Given the description of an element on the screen output the (x, y) to click on. 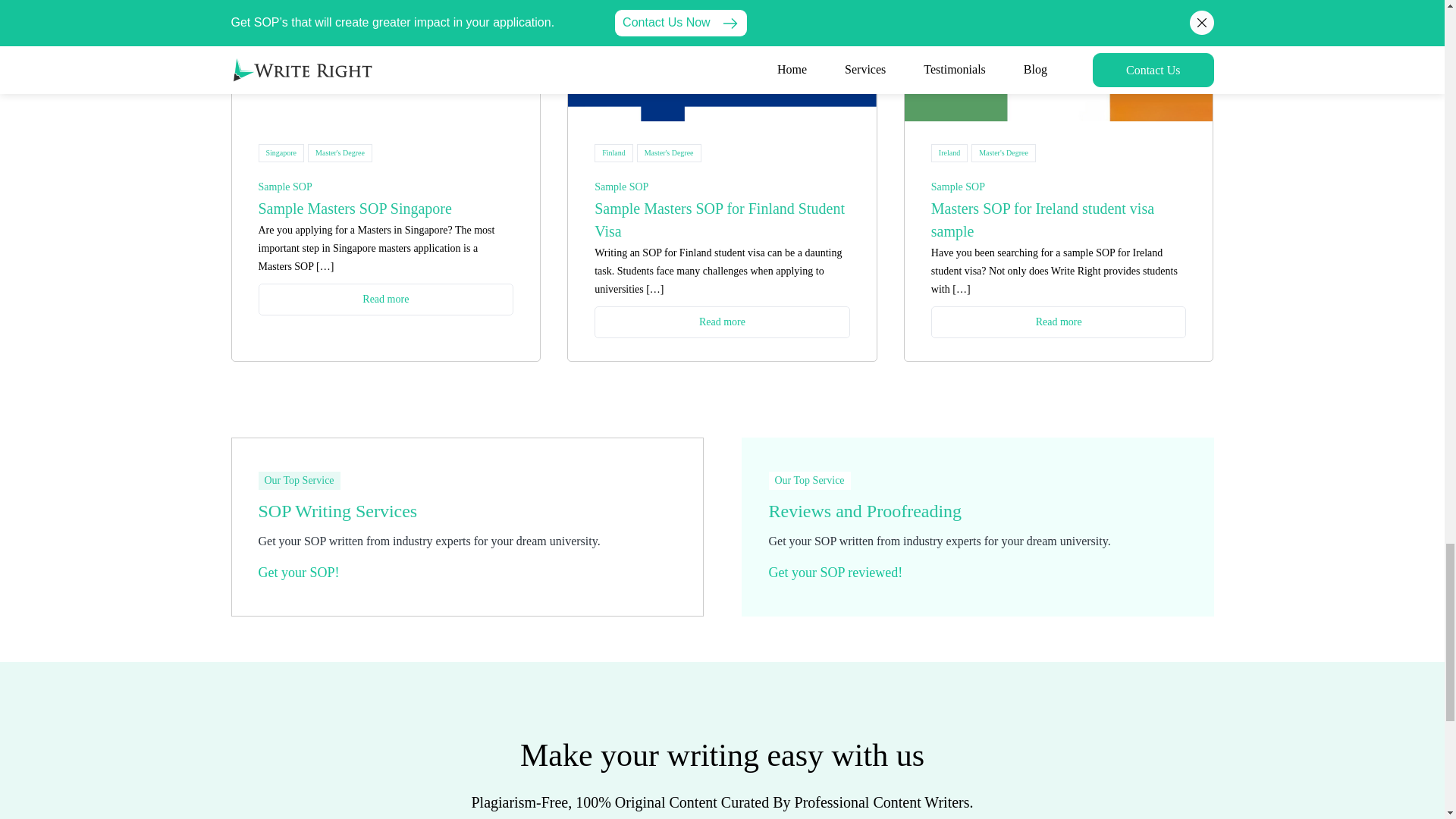
Get your SOP reviewed! (835, 572)
Read more (385, 299)
Get your SOP! (298, 572)
Read more (385, 299)
Get your SOP! (298, 572)
Read more (1058, 322)
Read more (722, 322)
Read more (722, 322)
Read more (1058, 322)
Get your SOP reviewed! (835, 572)
